Given the description of an element on the screen output the (x, y) to click on. 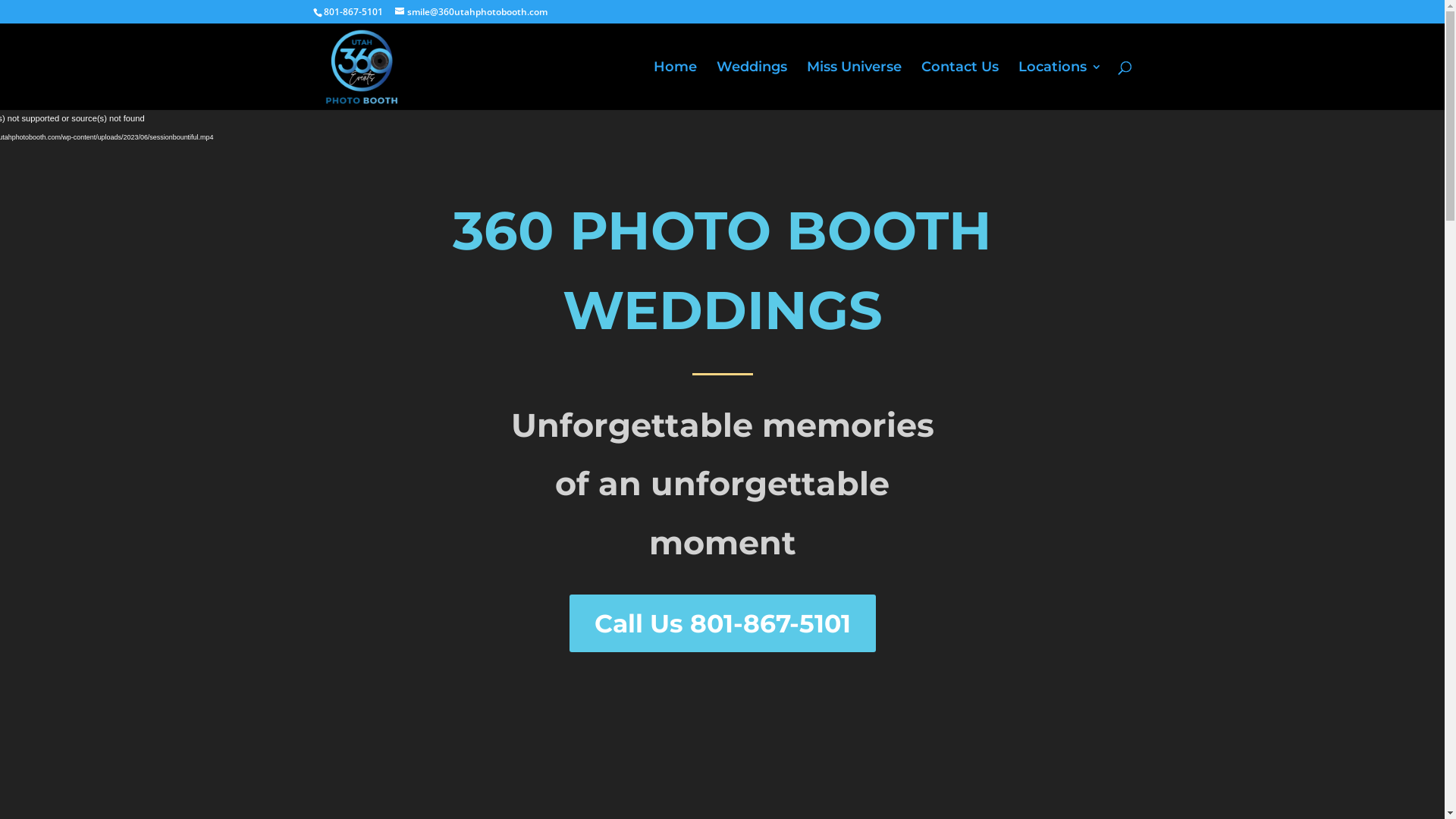
smile@360utahphotobooth.com Element type: text (470, 11)
Call Us 801-867-5101 Element type: text (721, 623)
Contact Us Element type: text (958, 85)
Weddings Element type: text (750, 85)
Locations Element type: text (1059, 85)
Miss Universe Element type: text (853, 85)
Home Element type: text (674, 85)
